Given the description of an element on the screen output the (x, y) to click on. 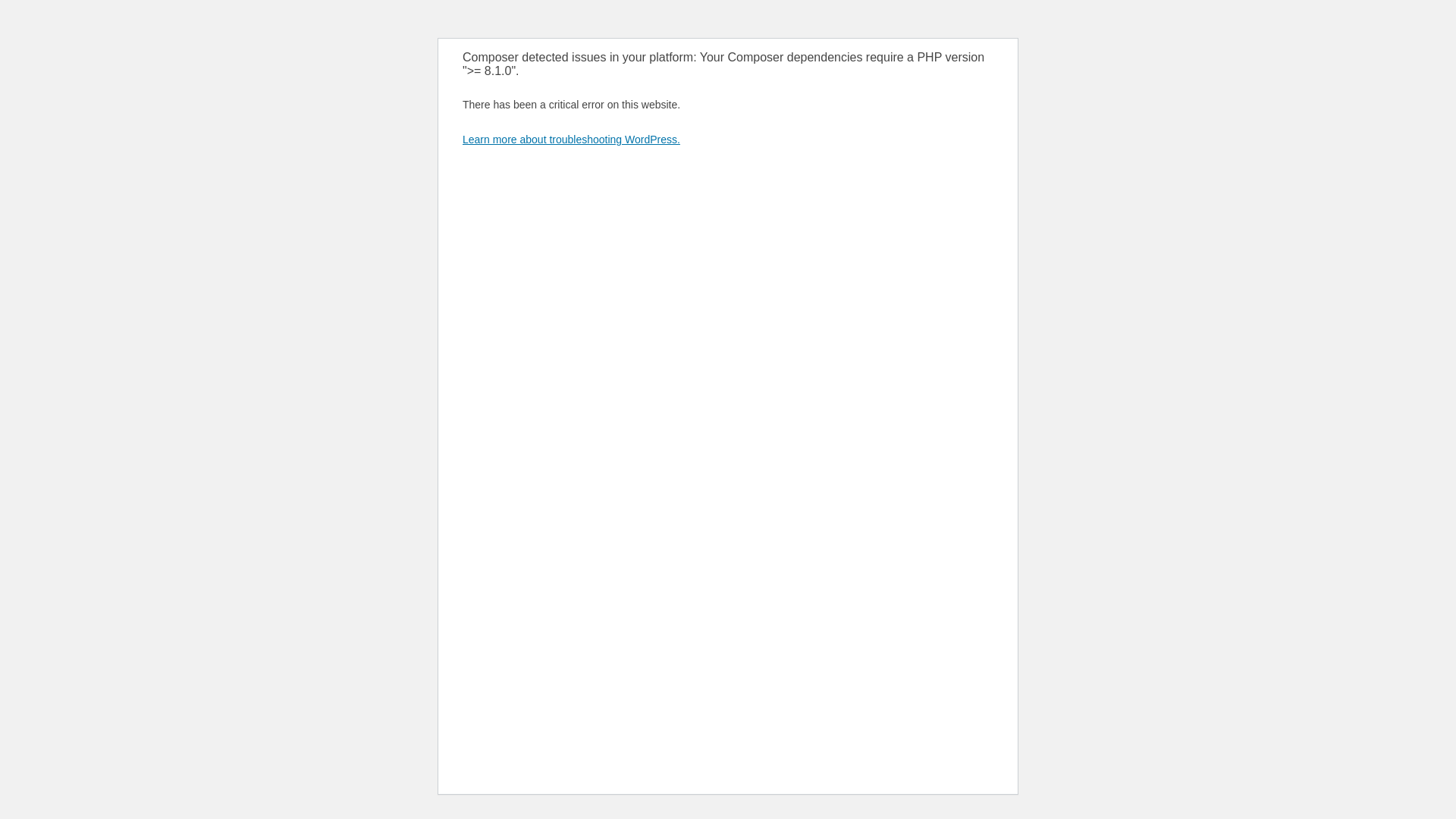
Learn more about troubleshooting WordPress. Element type: text (571, 139)
